Given the description of an element on the screen output the (x, y) to click on. 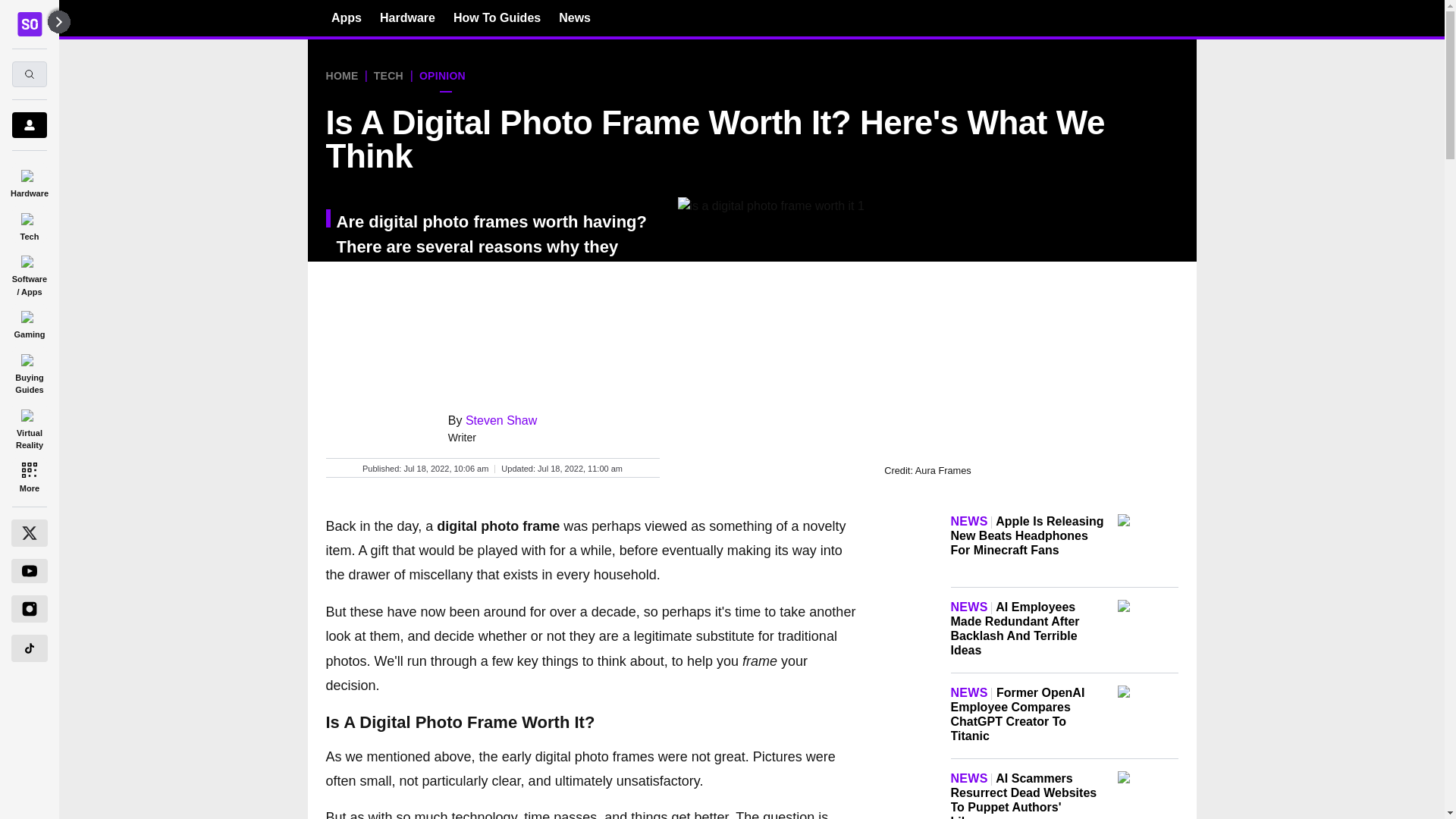
Gaming (28, 322)
Hardware (28, 180)
Apps (346, 18)
Tech (28, 224)
News (575, 18)
How To Guides (496, 18)
Hardware (407, 18)
More (28, 476)
